Given the description of an element on the screen output the (x, y) to click on. 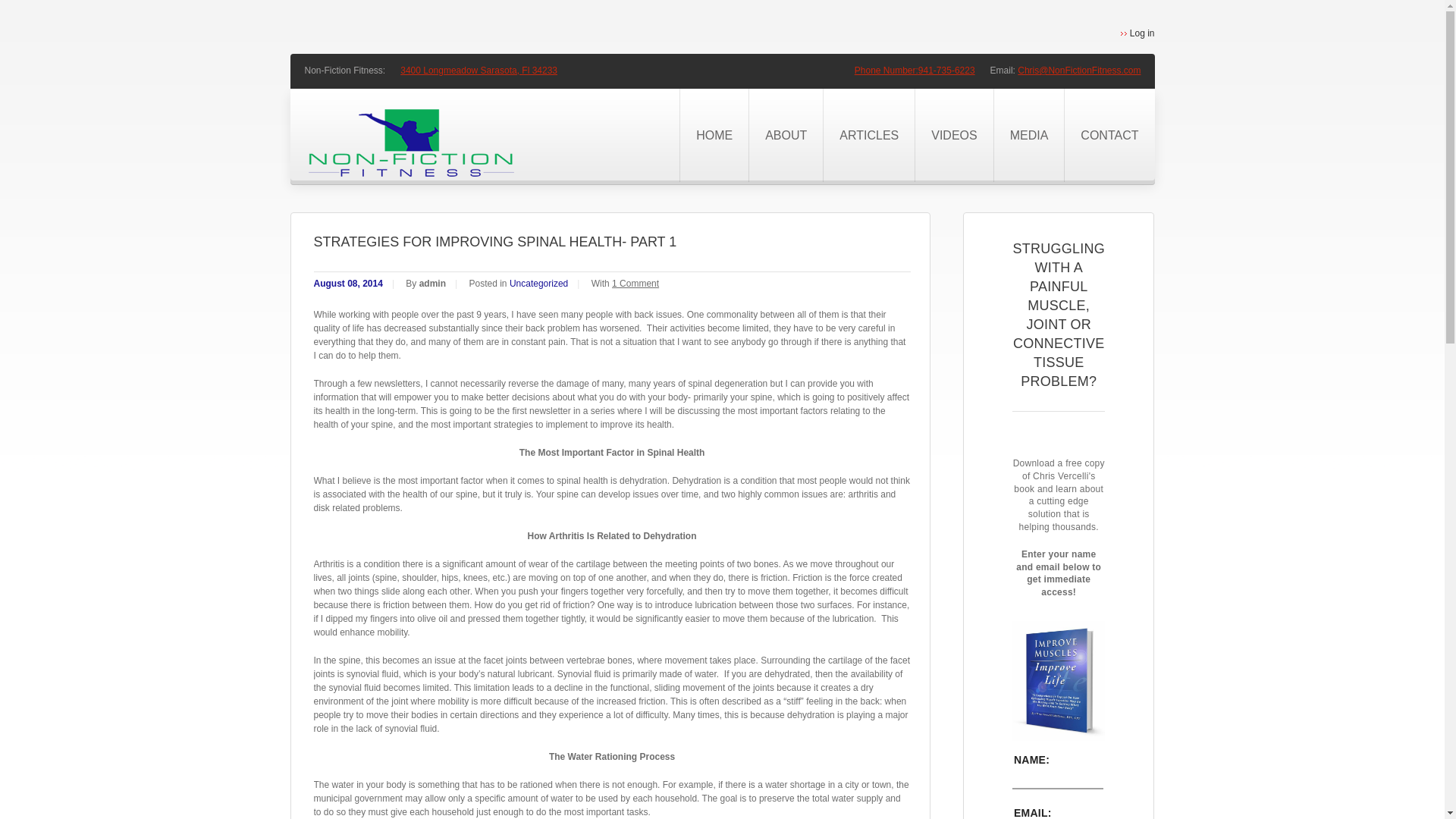
Phone Number: (886, 70)
Uncategorized (538, 283)
Posts by admin (432, 283)
3400 Longmeadow Sarasota, Fl 34233 (478, 70)
admin (432, 283)
1 Comment (635, 283)
ARTICLES (868, 134)
941-735-6223 (946, 70)
CONTACT (1109, 134)
Log in (1137, 33)
